Given the description of an element on the screen output the (x, y) to click on. 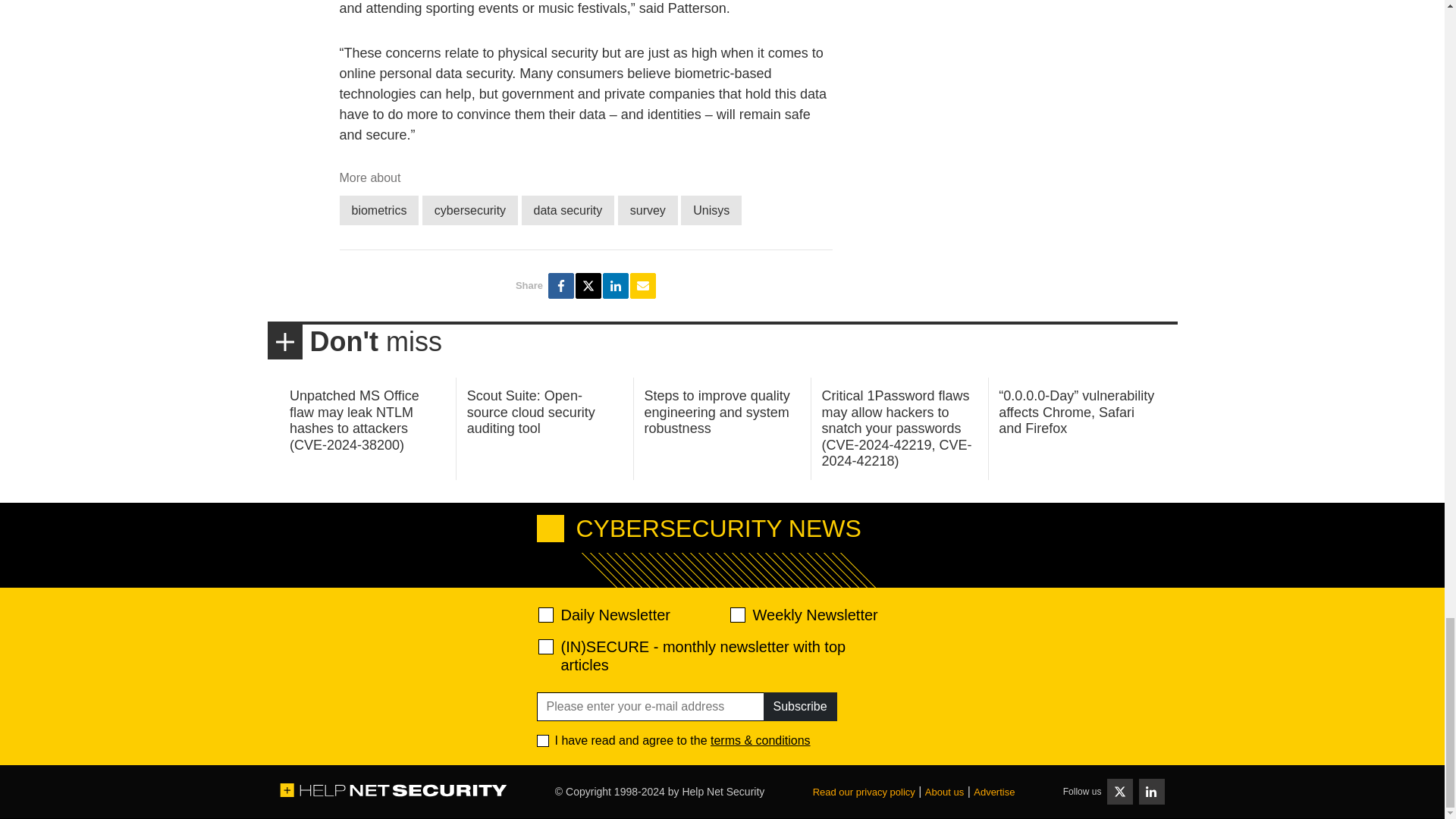
28abe5d9ef (545, 646)
data security (567, 210)
biometrics (379, 210)
Unisys (711, 210)
d2d471aafa (736, 614)
cybersecurity (470, 210)
520ac2f639 (545, 614)
cybersecurity (470, 210)
survey (647, 210)
